Given the description of an element on the screen output the (x, y) to click on. 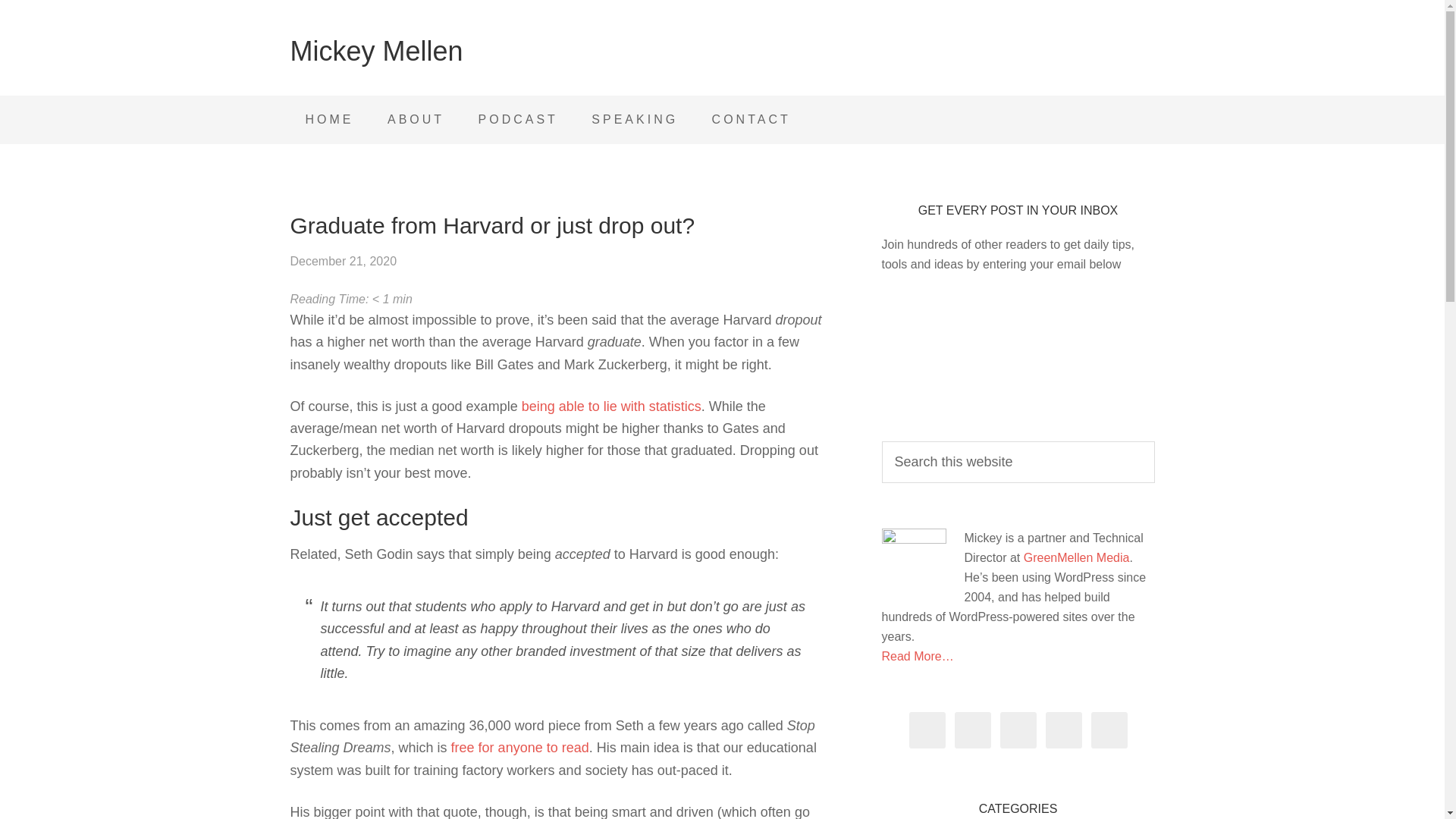
ABOUT (416, 119)
being able to lie with statistics (611, 406)
HOME (328, 119)
GreenMellen Media (1076, 557)
SPEAKING (634, 119)
Mickey Mellen (376, 51)
PODCAST (518, 119)
CONTACT (751, 119)
free for anyone to read (520, 747)
